Given the description of an element on the screen output the (x, y) to click on. 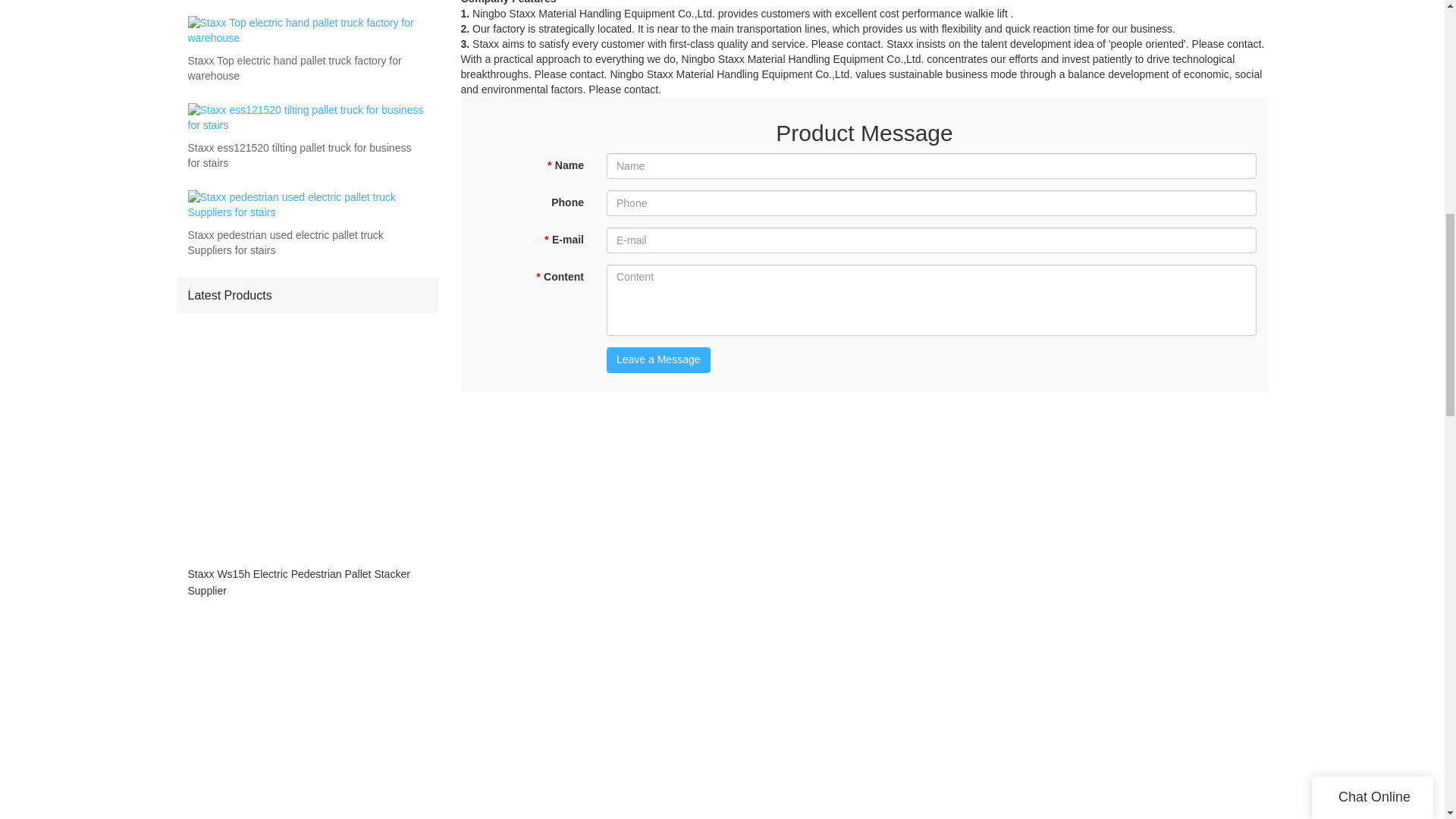
Staxx ess121520 tilting pallet truck for business for stairs (306, 155)
Staxx Ws15h Electric Pedestrian Pallet Stacker Supplier (306, 581)
Staxx Top electric hand pallet truck factory for warehouse (306, 69)
